Given the description of an element on the screen output the (x, y) to click on. 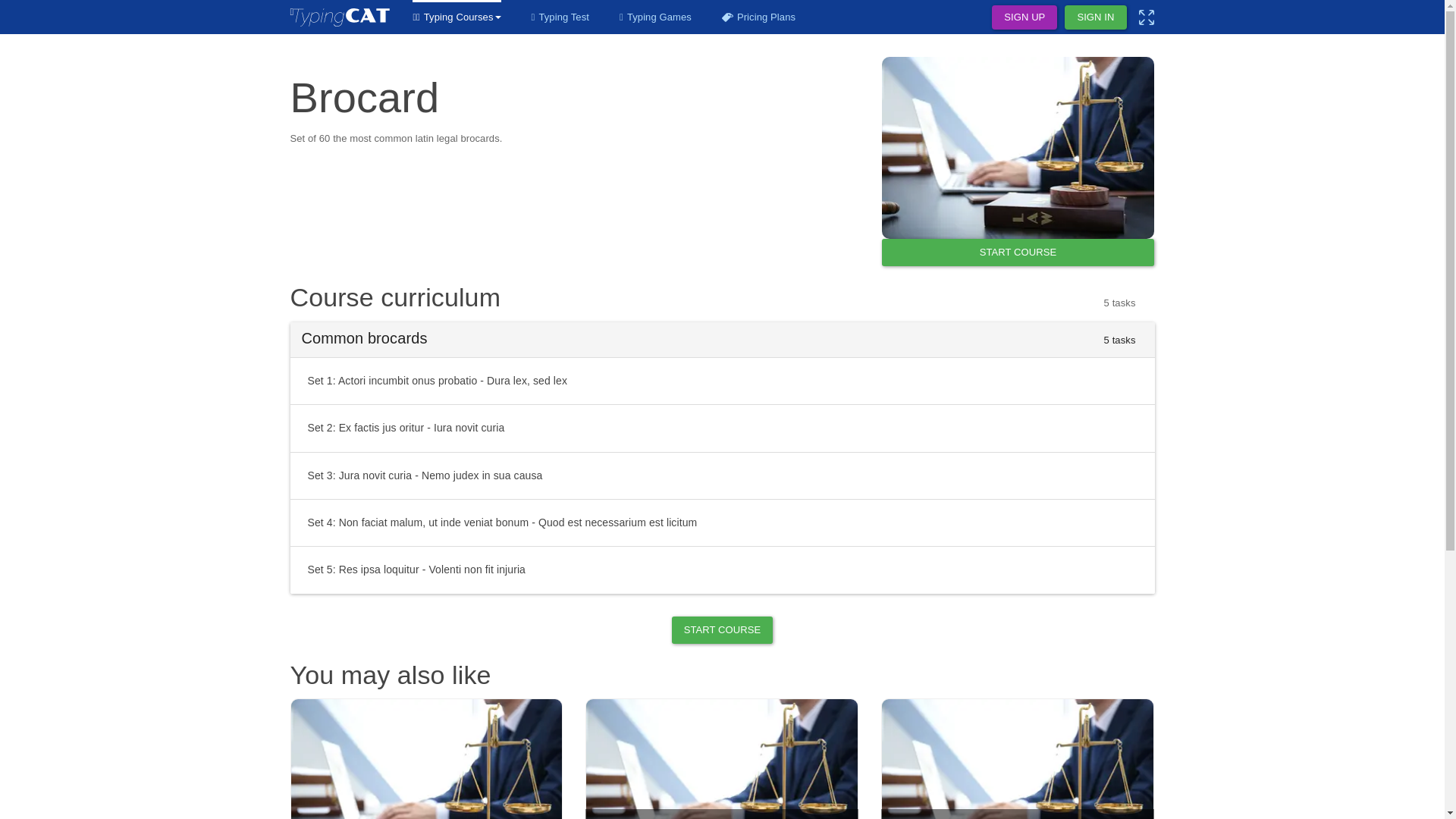
Set 1: Actori incumbit onus probatio - Dura lex, sed lex (721, 381)
Typing Test (559, 17)
SIGN IN (1094, 16)
Fullscreen (1146, 16)
Typing Courses (456, 17)
Typing Courses (456, 17)
Typing Games (655, 17)
Set 2: Ex factis jus oritur - Iura novit curia (721, 427)
Set 5: Res ipsa loquitur - Volenti non fit injuria (721, 569)
Pricing Plans (758, 17)
